Given the description of an element on the screen output the (x, y) to click on. 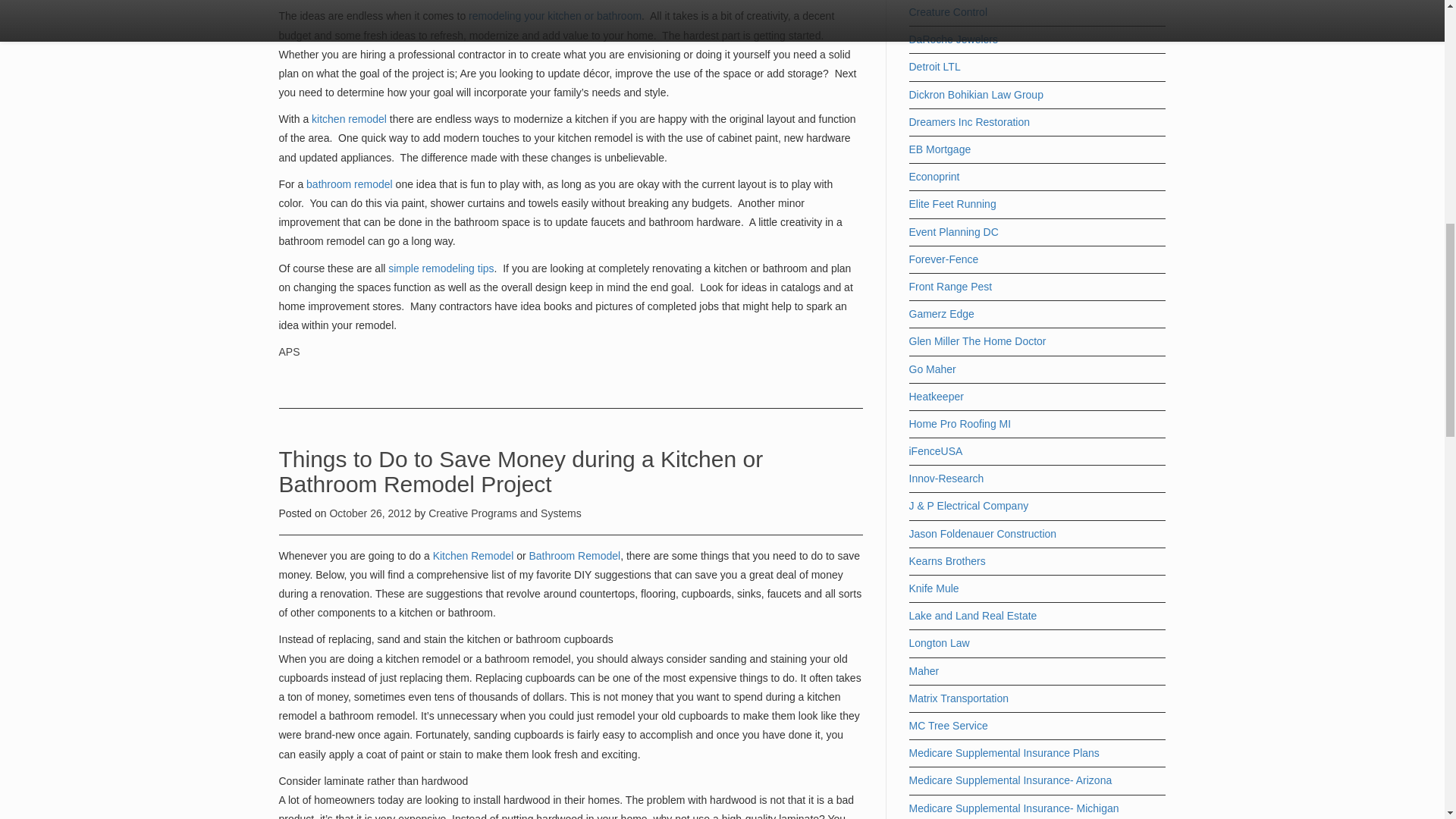
Kitchen Remodel (472, 555)
bathroom remodel (350, 184)
Bathroom Remodel (575, 555)
remodeling your kitchen or bathroom (555, 15)
6:35 pm (371, 512)
APS (289, 351)
kitchen remodel (347, 119)
Creative Programs and Systems (504, 512)
October 26, 2012 (371, 512)
